Given the description of an element on the screen output the (x, y) to click on. 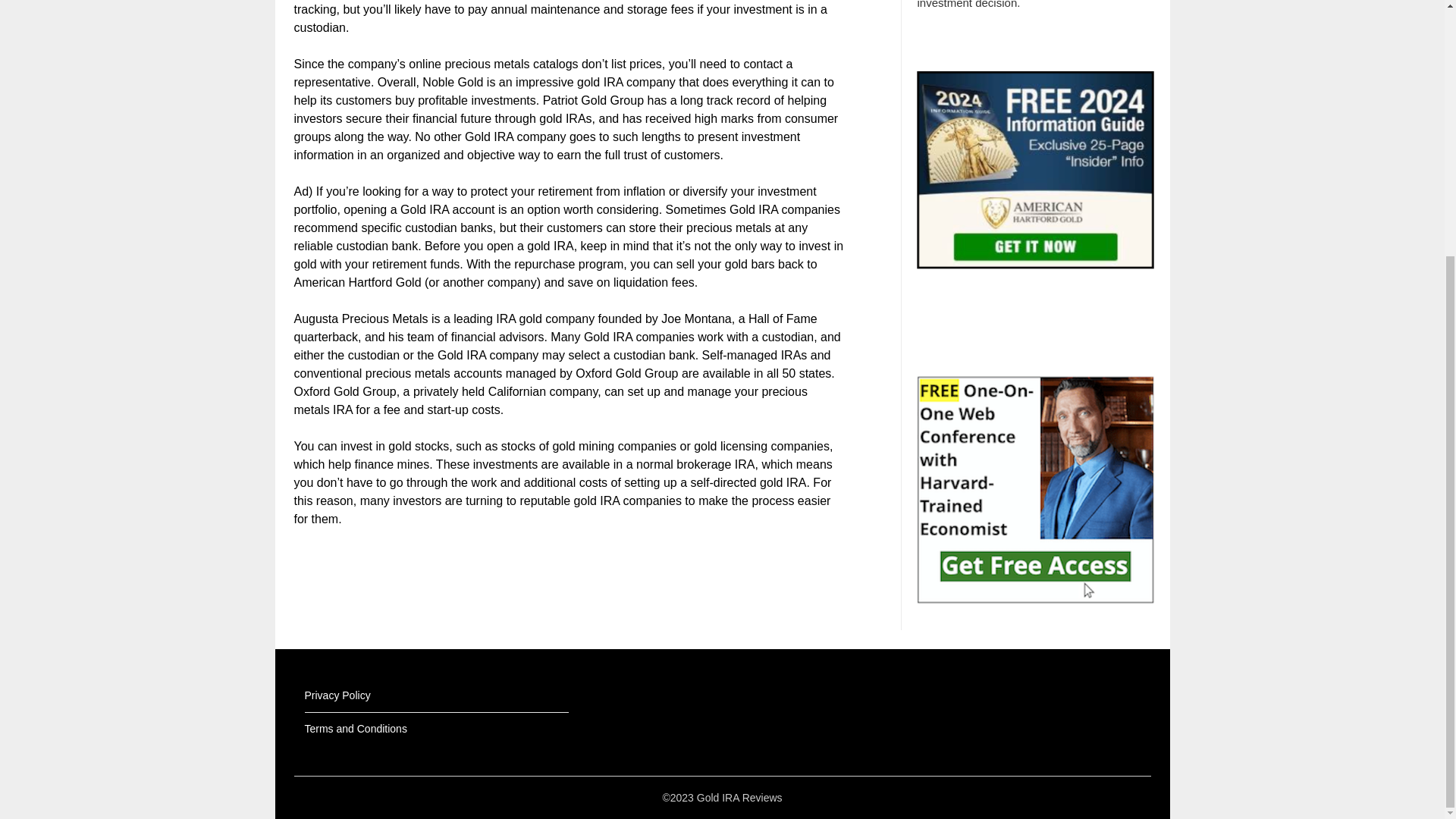
Terms and Conditions (355, 728)
Privacy Policy (337, 695)
